Given the description of an element on the screen output the (x, y) to click on. 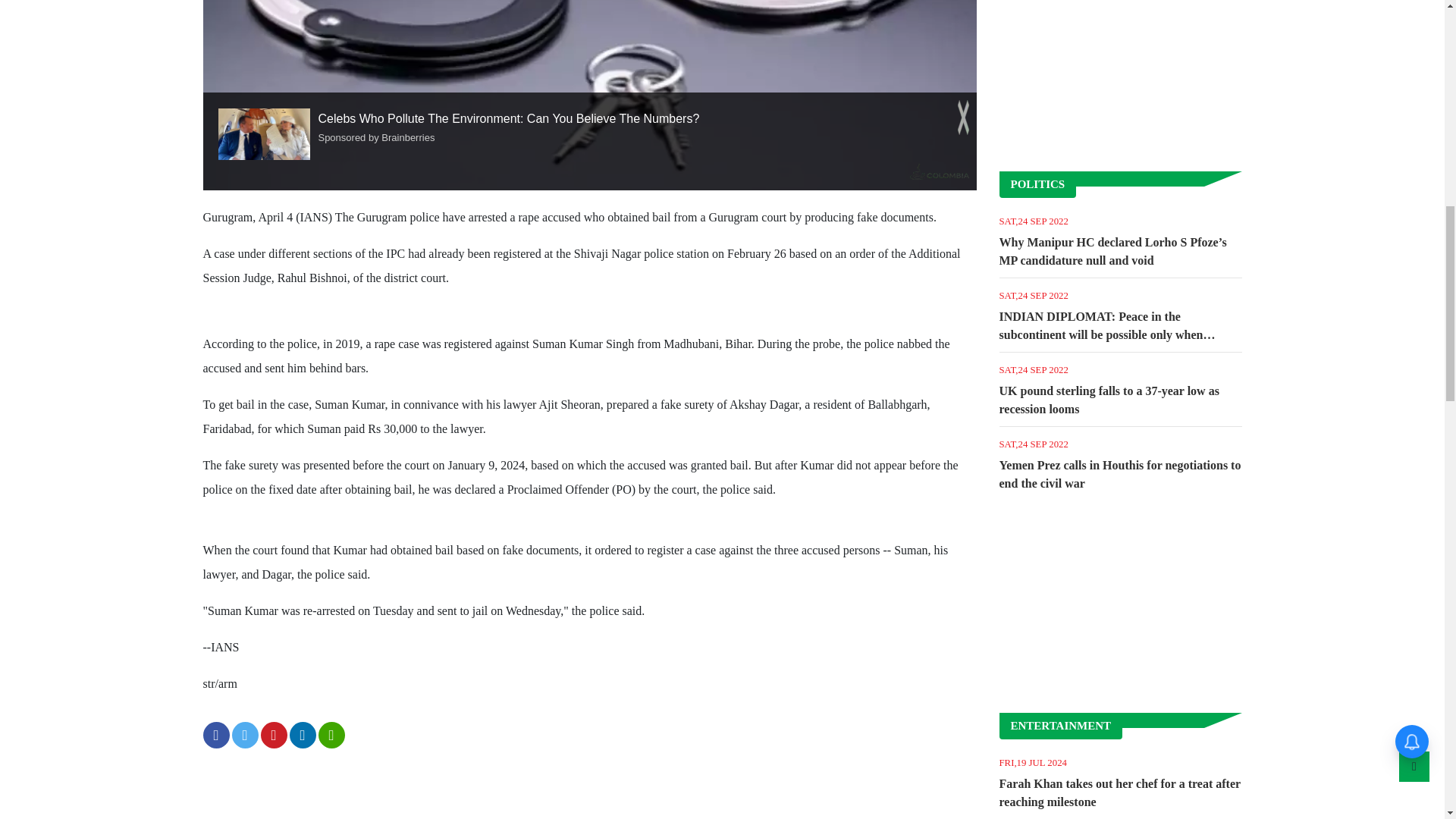
3rd party ad content (1120, 606)
Advertisement (1120, 77)
